Given the description of an element on the screen output the (x, y) to click on. 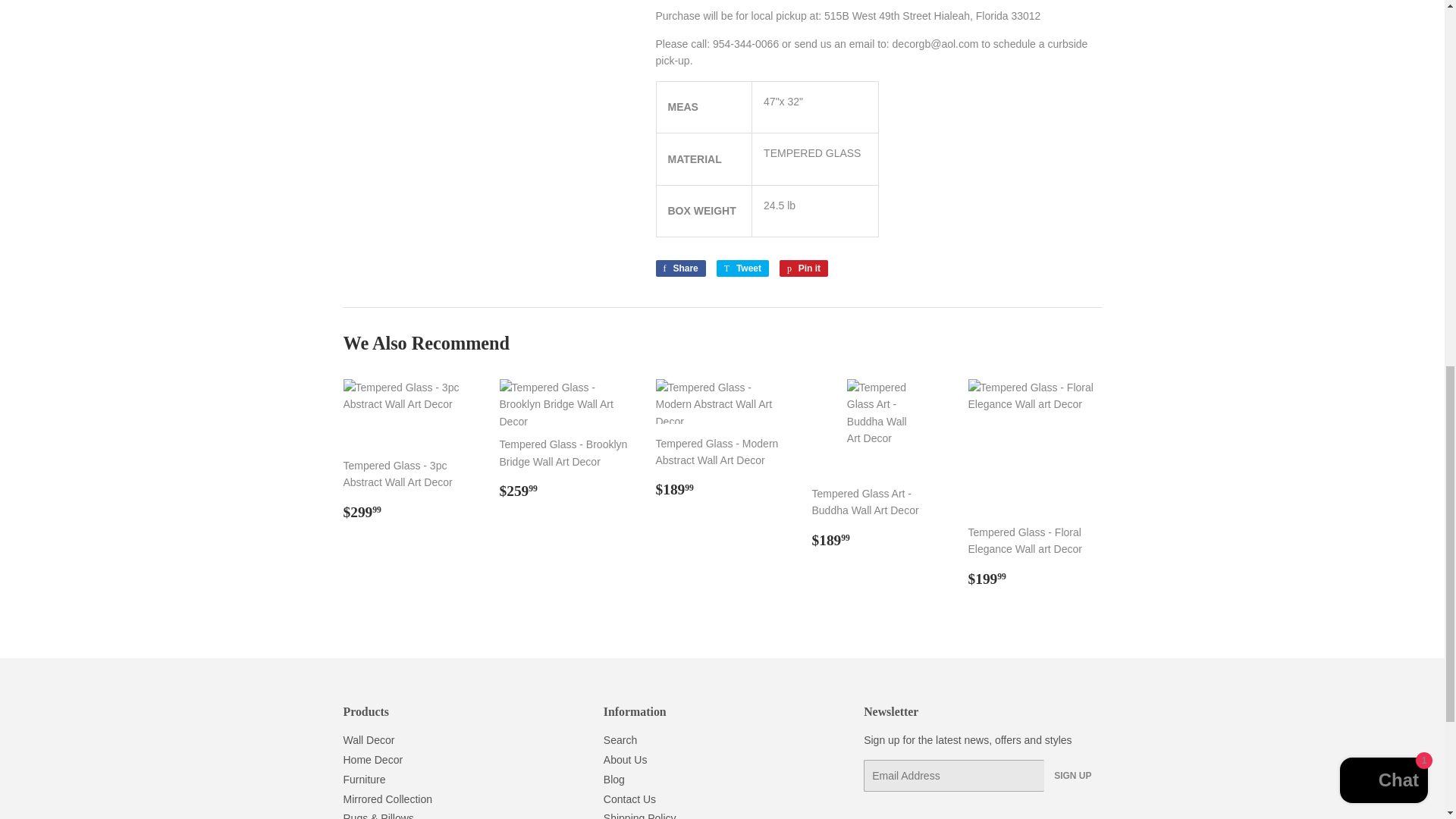
Tweet on Twitter (742, 268)
Pin on Pinterest (803, 268)
Share on Facebook (679, 268)
